Given the description of an element on the screen output the (x, y) to click on. 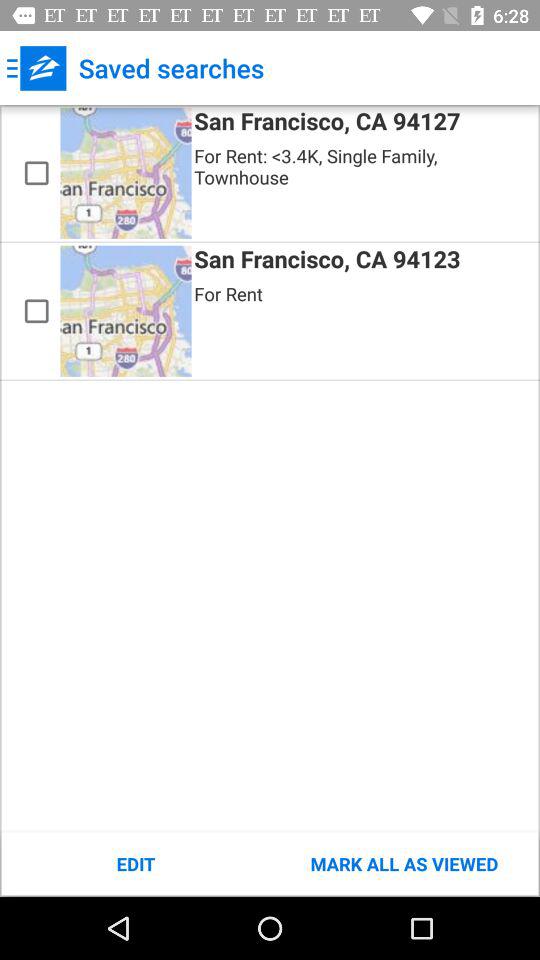
swipe to the edit item (135, 863)
